Given the description of an element on the screen output the (x, y) to click on. 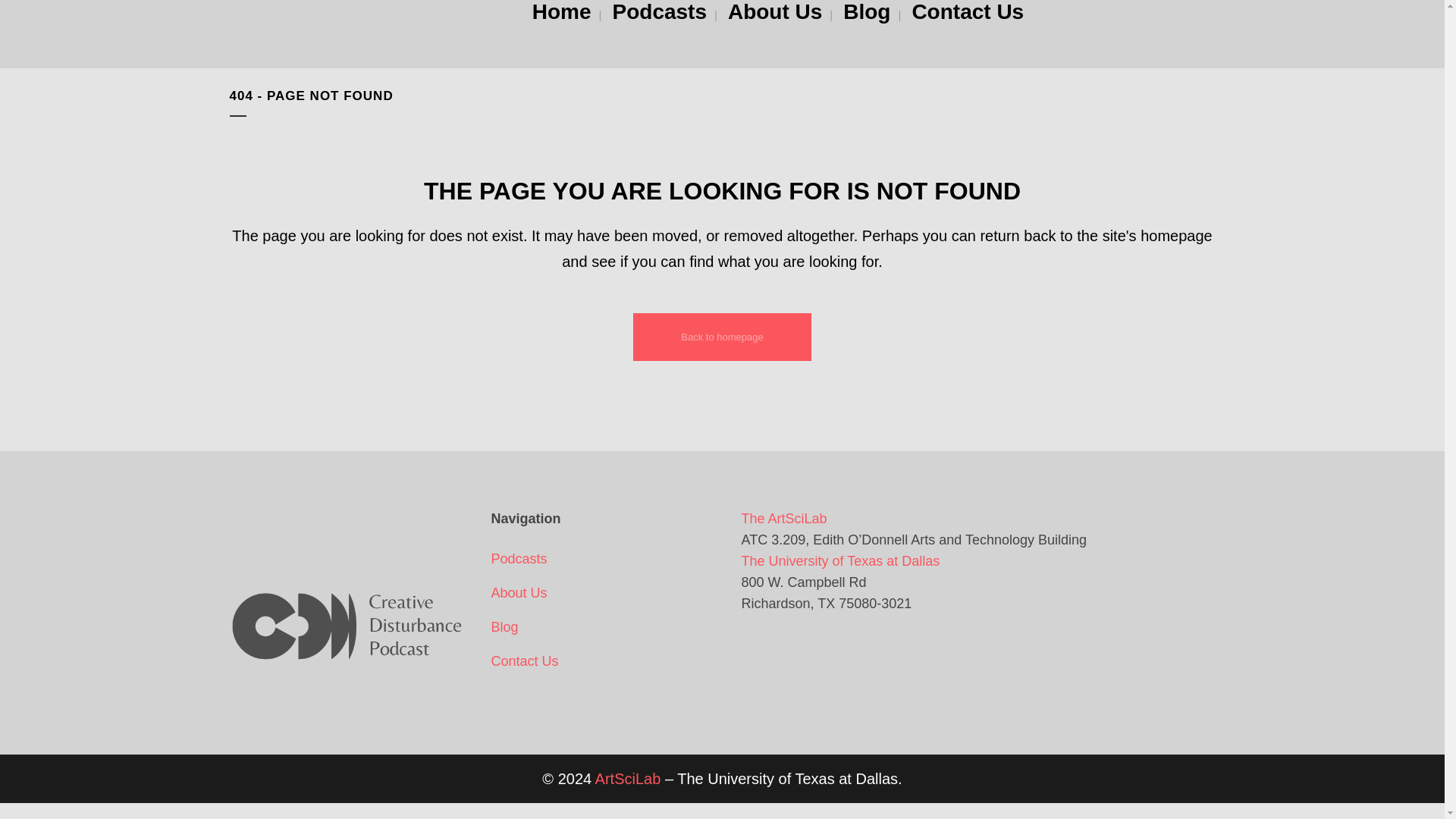
The ArtSciLab (784, 518)
ArtSciLab (628, 778)
about (603, 592)
Contact Us (603, 660)
Home (560, 12)
Back to homepage (721, 336)
The University of Texas at Dallas (840, 560)
About Us (775, 12)
Contact Us (967, 12)
Blog (603, 627)
